Given the description of an element on the screen output the (x, y) to click on. 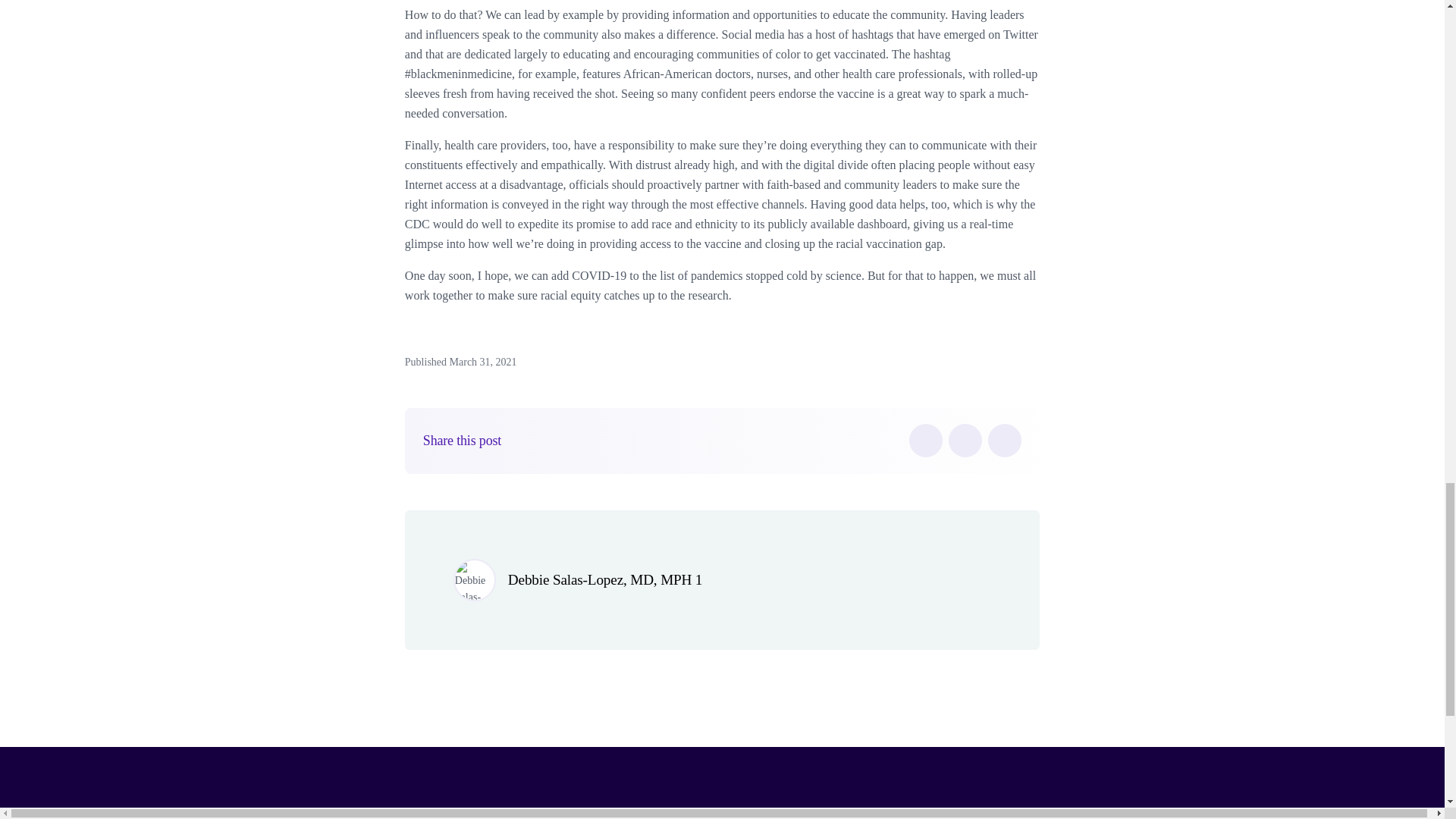
Debbie Salas-Lopez, MD, MPH 1 (604, 579)
LinkedIn (1005, 440)
Facebook (925, 440)
Twitter (965, 440)
